Given the description of an element on the screen output the (x, y) to click on. 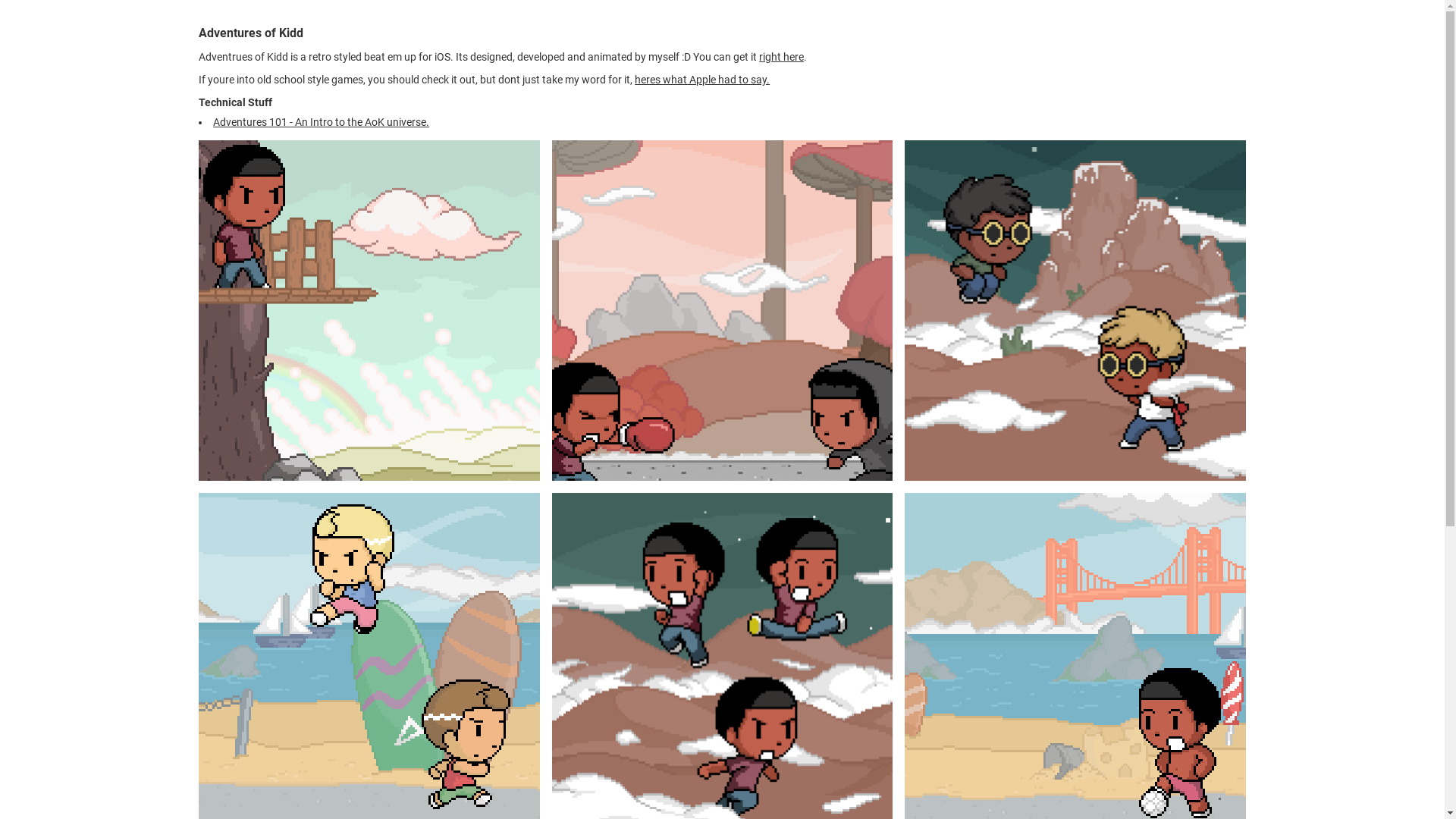
heres what Apple had to say. Element type: text (701, 79)
right here Element type: text (781, 56)
Adventures 101 - An Intro to the AoK universe. Element type: text (321, 122)
